Given the description of an element on the screen output the (x, y) to click on. 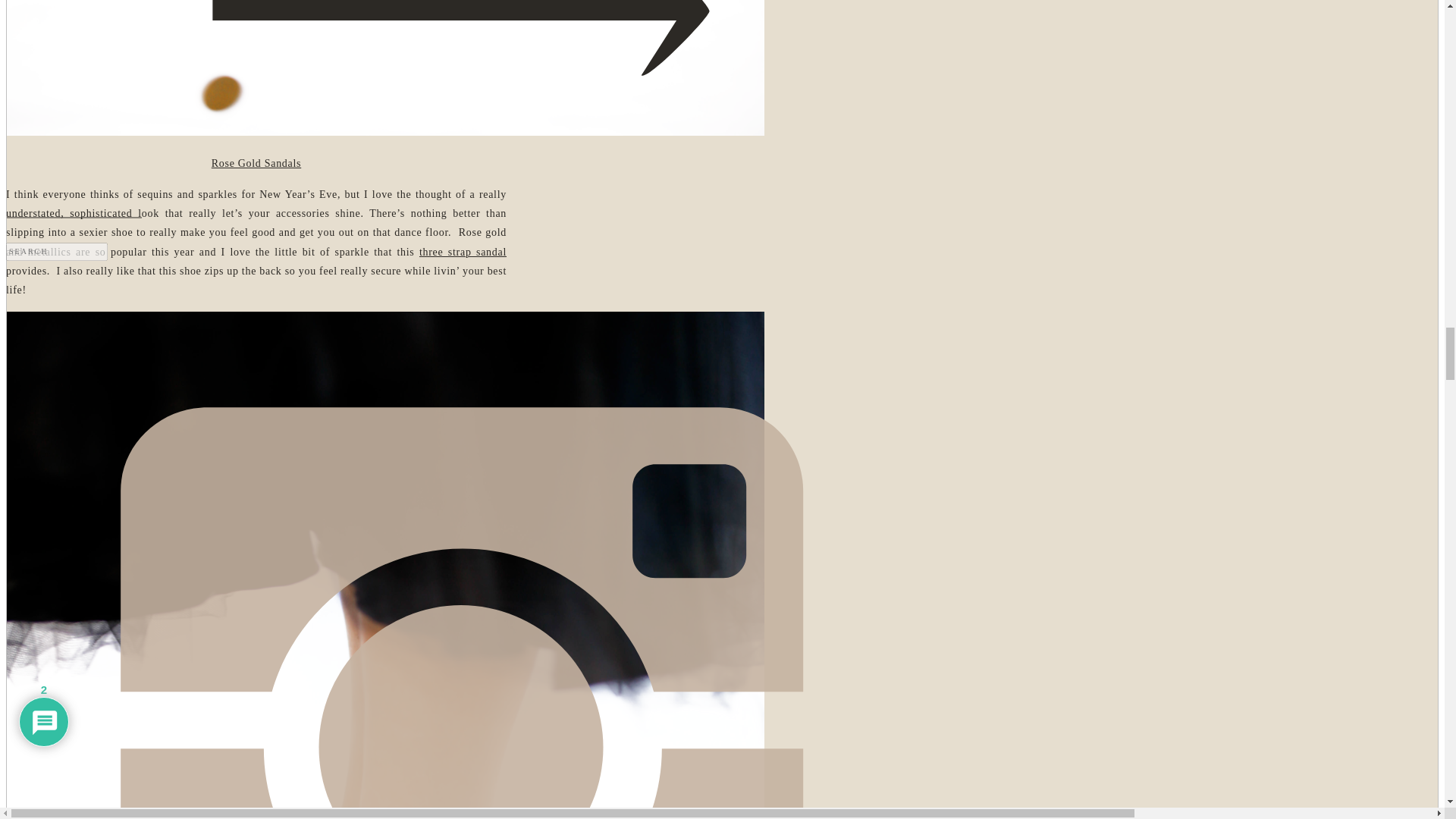
arrow (460, 738)
